Given the description of an element on the screen output the (x, y) to click on. 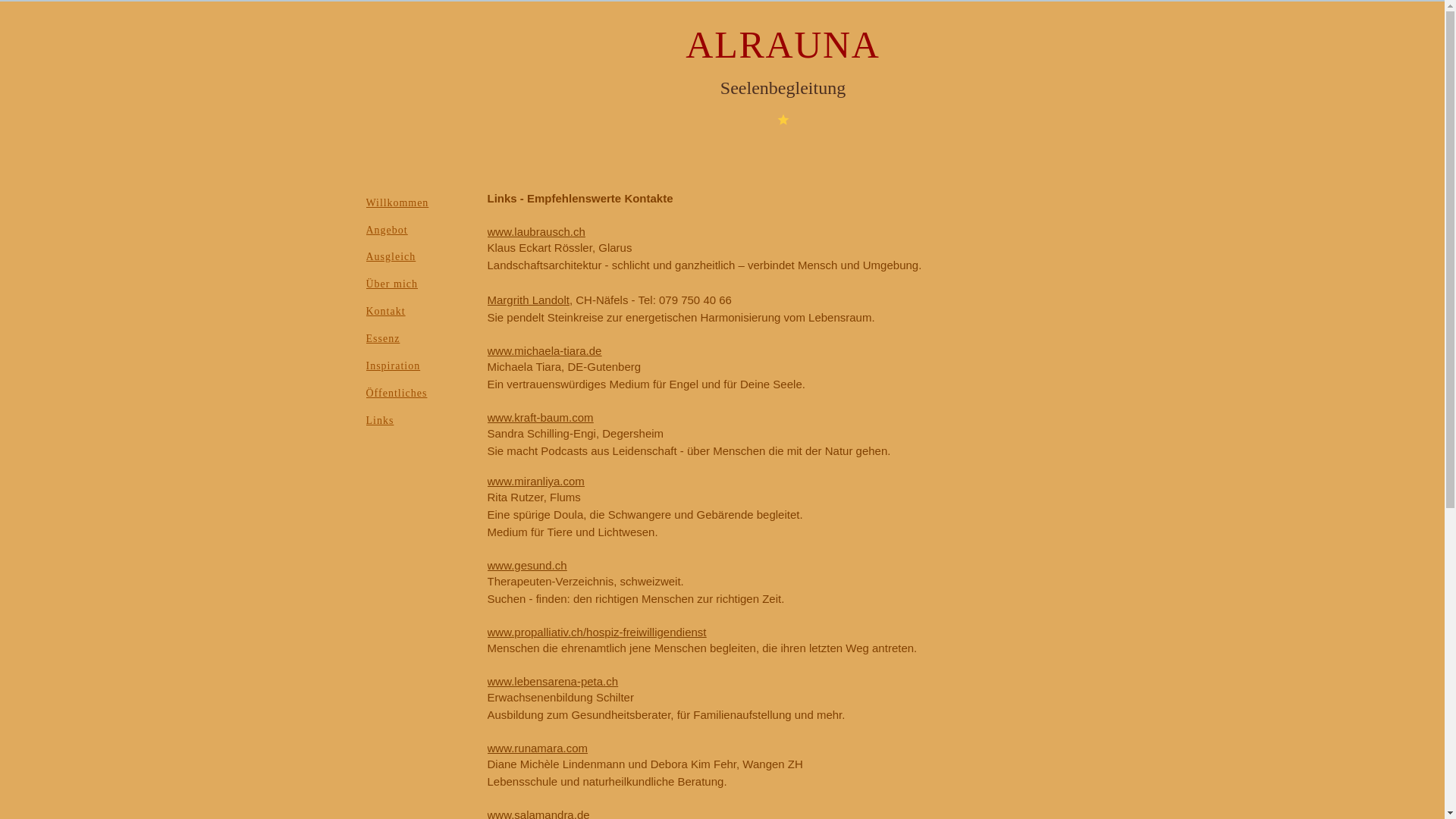
Kontakt Element type: text (418, 311)
Angebot Element type: text (418, 227)
www.runamara.com Element type: text (536, 747)
Ausgleich Element type: text (418, 256)
www.laubrausch.ch Element type: text (535, 231)
Willkommen Element type: text (418, 202)
Essenz Element type: text (418, 338)
Inspiration Element type: text (418, 365)
www.michaela-tiara.de Element type: text (543, 350)
www.miranliya.com Element type: text (534, 480)
www.propalliativ.ch/hospiz-freiwilligendienst Element type: text (596, 631)
www.lebensarena-peta.ch Element type: text (552, 680)
www.kraft-baum.com Element type: text (539, 417)
www.gesund.ch Element type: text (526, 564)
Links Element type: text (418, 420)
